Given the description of an element on the screen output the (x, y) to click on. 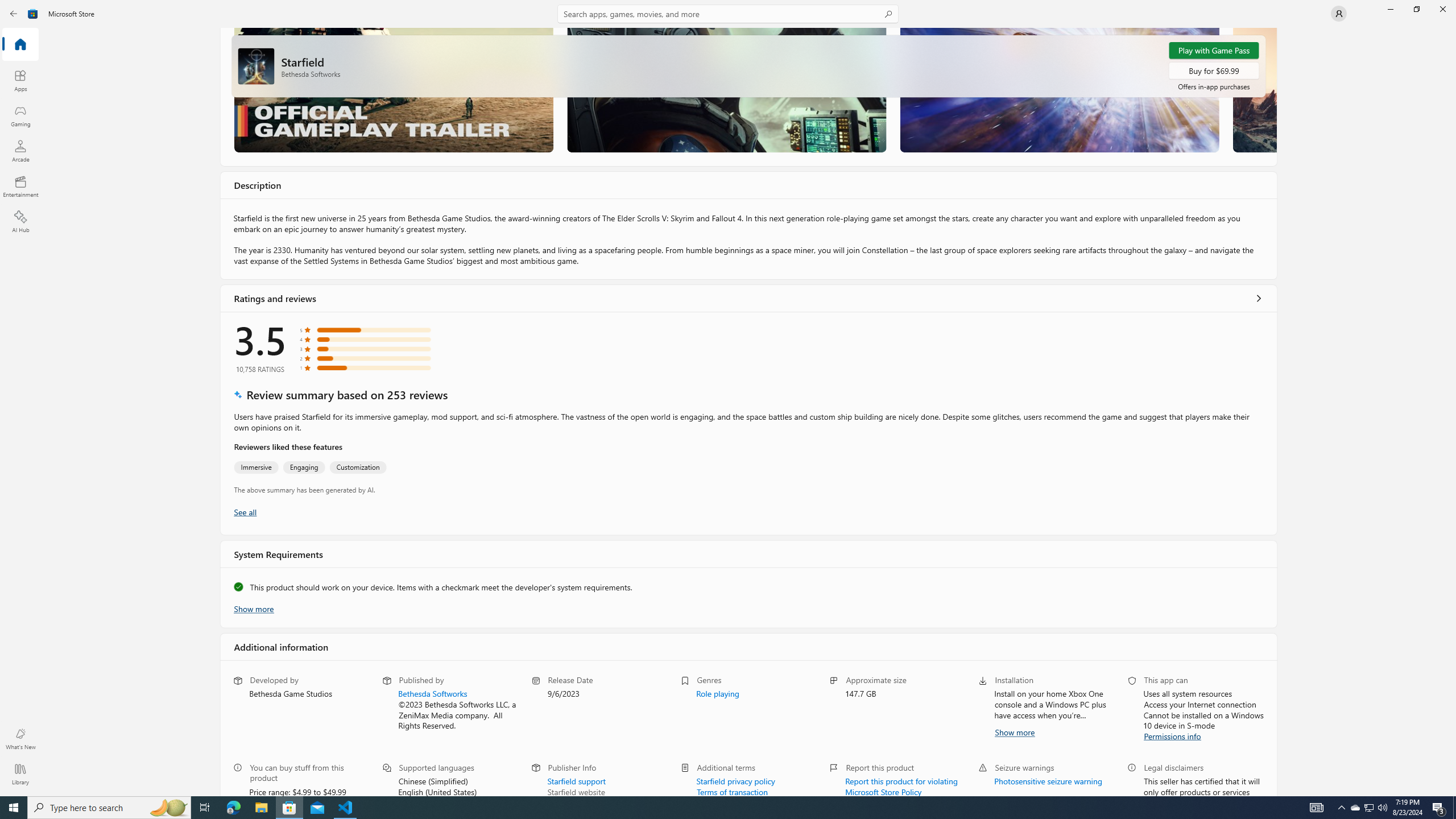
Report this product for violating Microsoft Store Policy (901, 785)
Show all ratings and reviews (244, 511)
Starfield privacy policy (734, 780)
Show more (1013, 731)
Screenshot 4 (1253, 89)
Scroll to top (748, 65)
Starfield support (576, 780)
Buy (1213, 70)
